Given the description of an element on the screen output the (x, y) to click on. 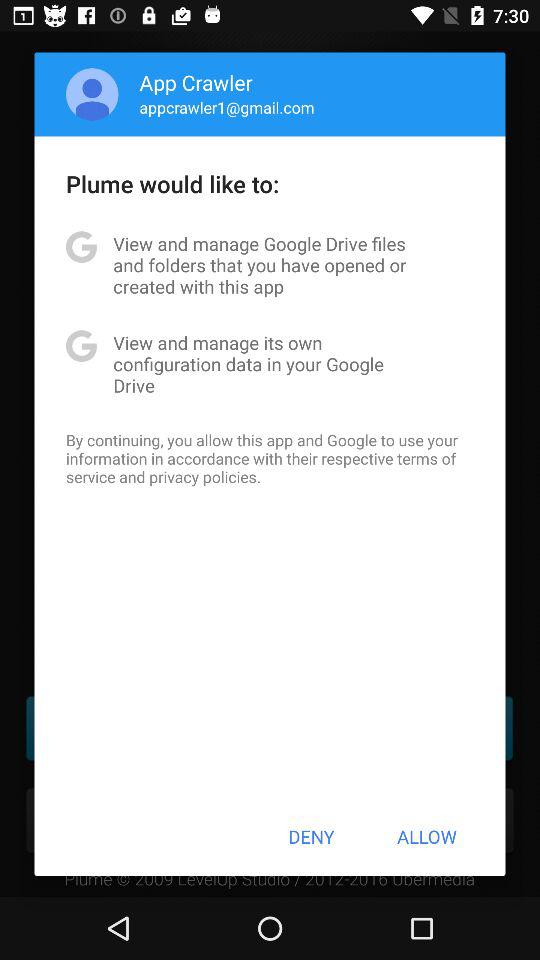
click app below the by continuing you item (311, 836)
